Given the description of an element on the screen output the (x, y) to click on. 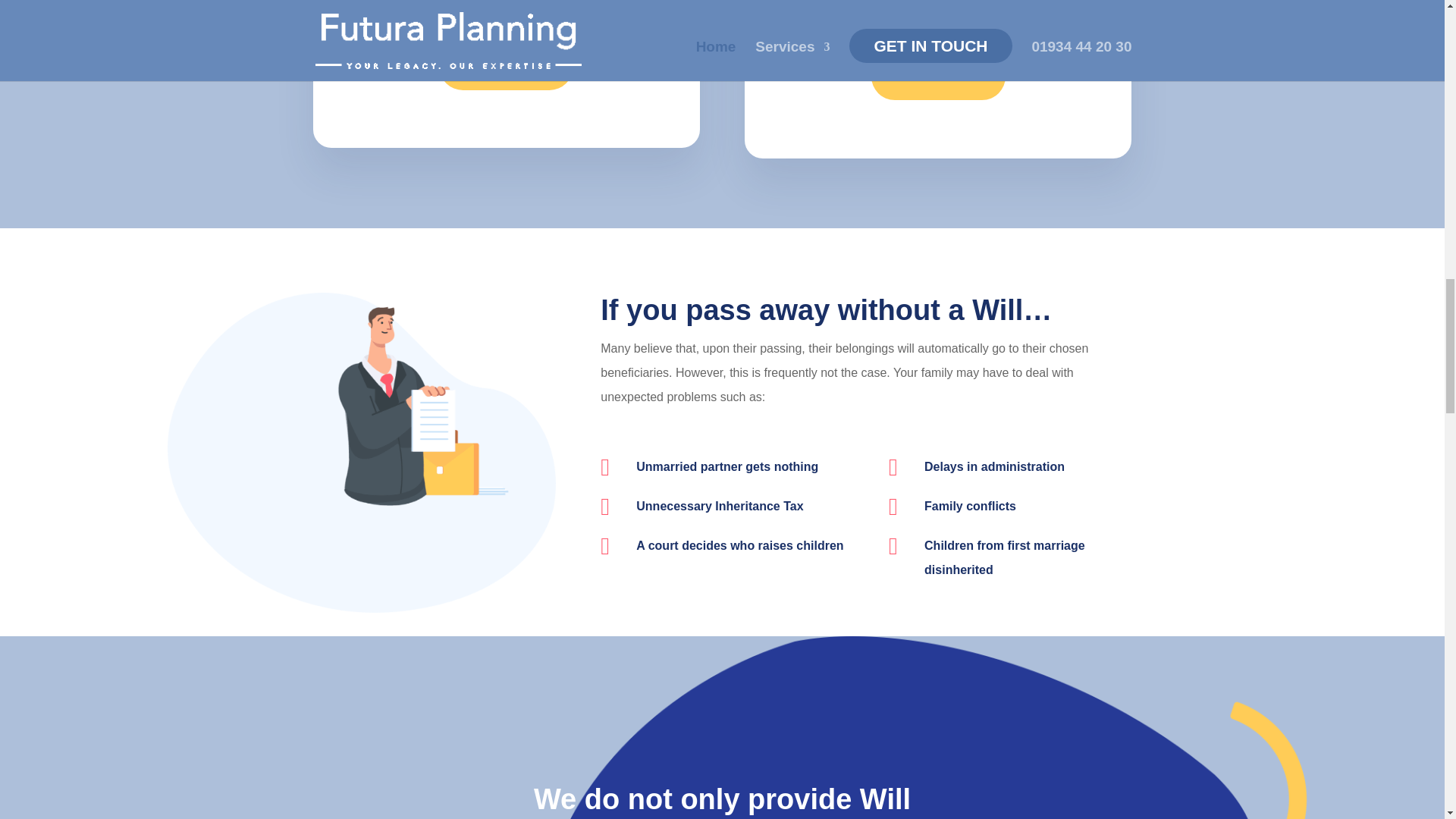
Learn More (938, 76)
Learn More (506, 66)
